Given the description of an element on the screen output the (x, y) to click on. 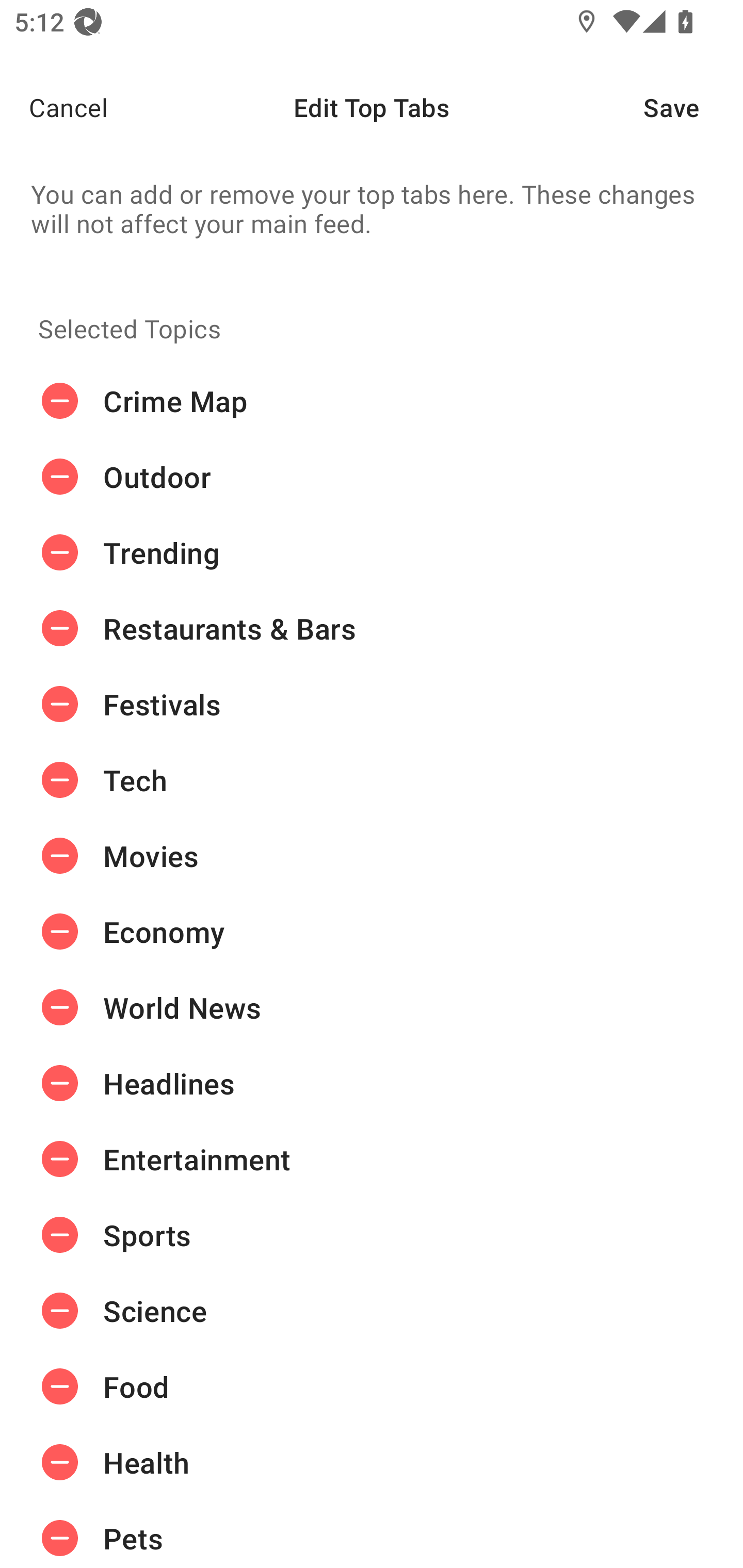
Cancel (53, 106)
Save (693, 106)
Crime Map (371, 401)
Outdoor (371, 476)
Trending (371, 552)
Restaurants & Bars (371, 628)
Festivals (371, 703)
Tech (371, 779)
Movies (371, 855)
Economy (371, 931)
World News (371, 1007)
Headlines (371, 1083)
Entertainment (371, 1158)
Sports (371, 1234)
Science (371, 1310)
Food (371, 1386)
Health (371, 1462)
Pets (371, 1534)
